Given the description of an element on the screen output the (x, y) to click on. 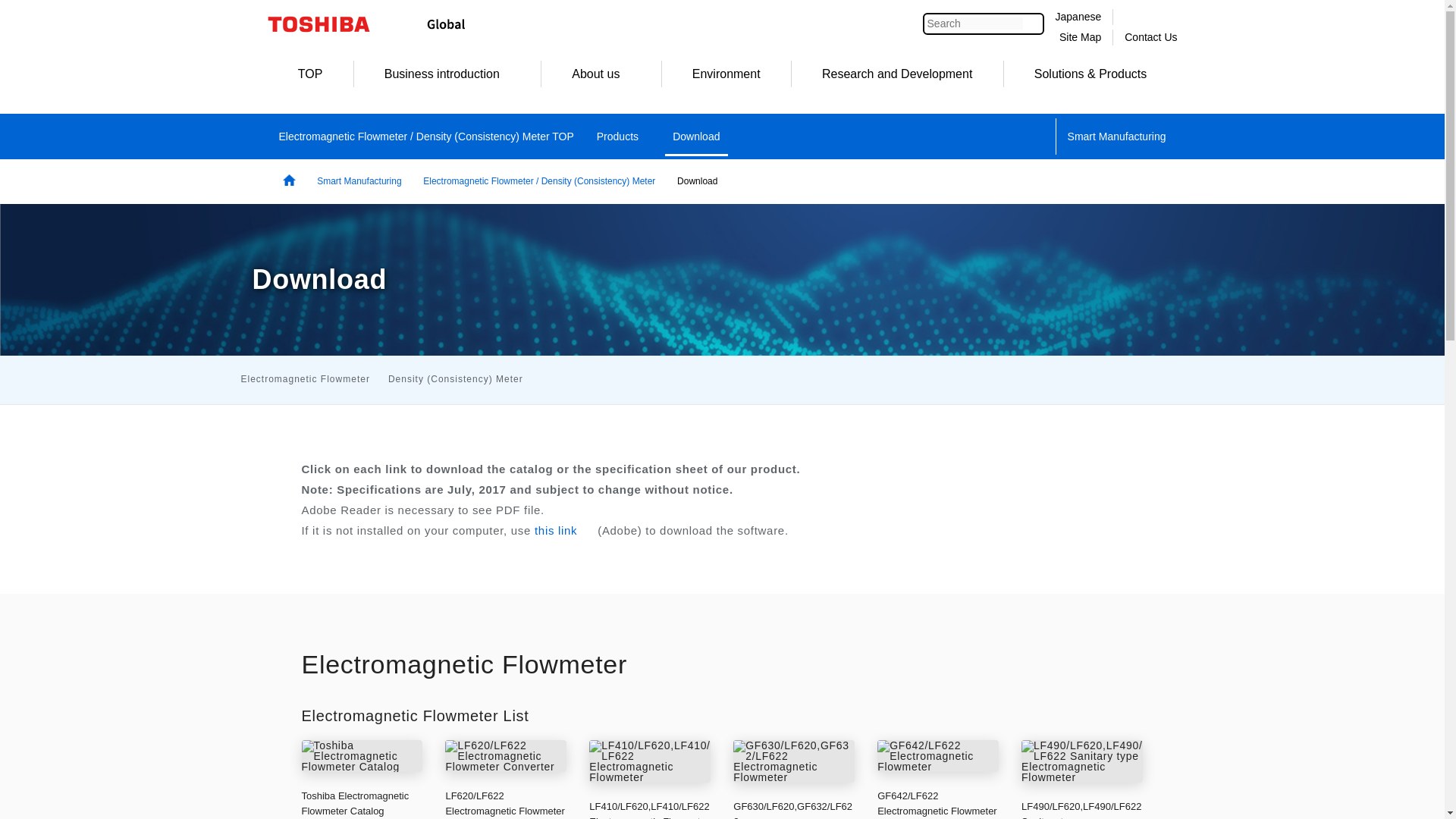
Site Map (1079, 37)
Japanese (1078, 16)
Contact Us (1150, 37)
Toshiba Global Top Page (327, 24)
Contact Us (1150, 37)
Site Map (1079, 37)
Search (975, 23)
Japanese (1078, 16)
